Given the description of an element on the screen output the (x, y) to click on. 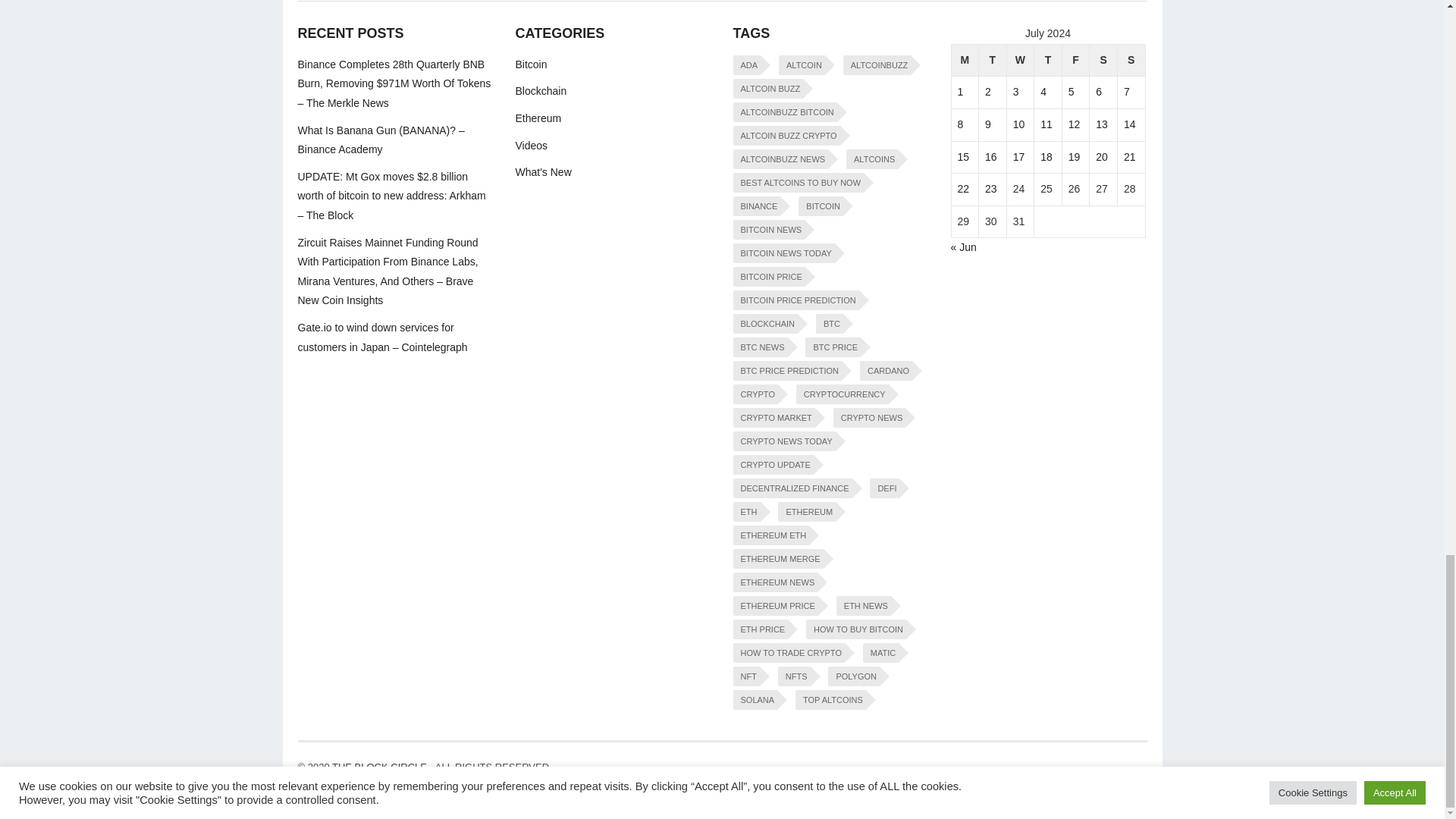
Latest Trending News about Blockchain (541, 91)
